Given the description of an element on the screen output the (x, y) to click on. 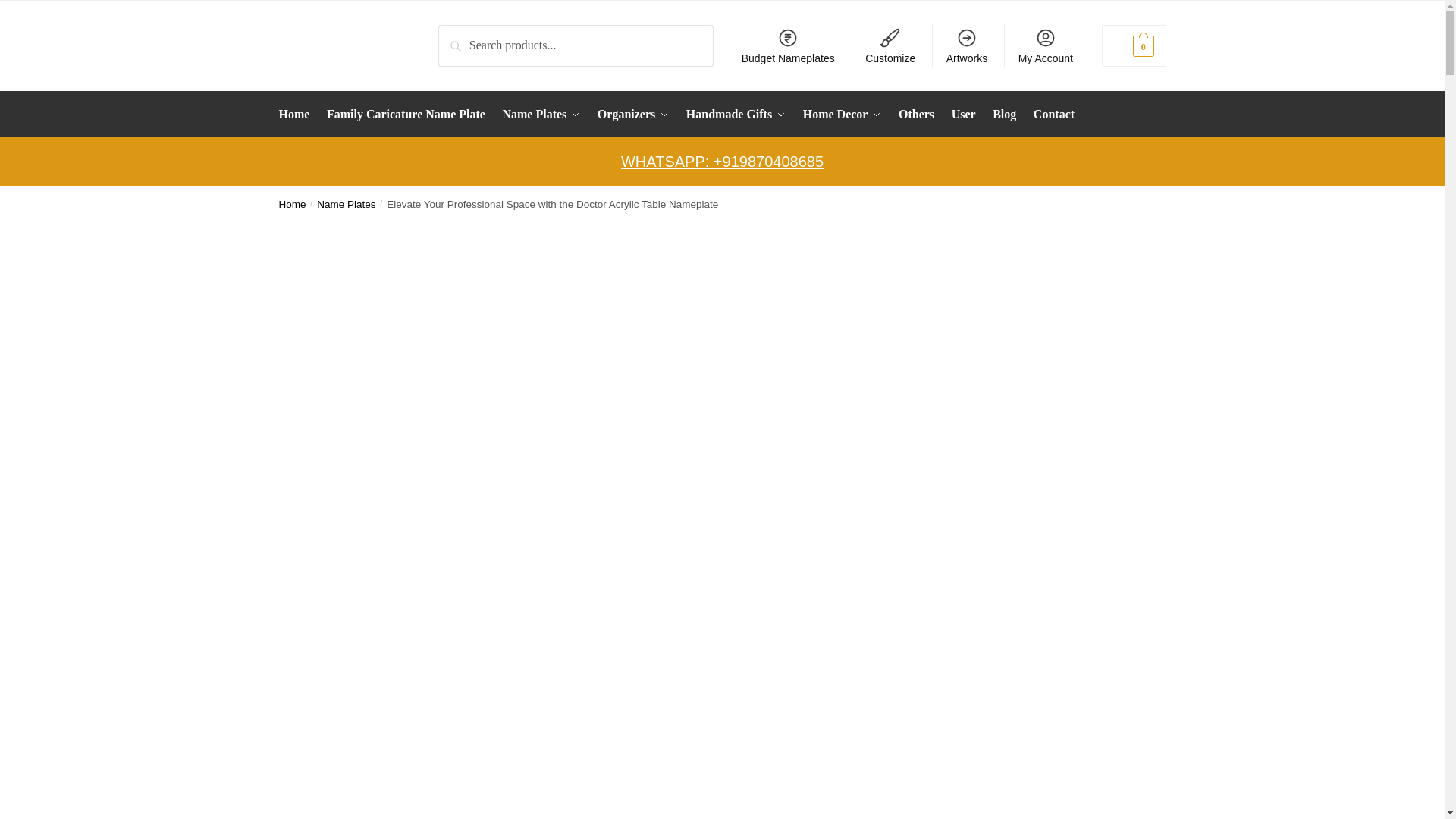
Handmade Gifts (735, 114)
Name Plates (541, 114)
Organizers (633, 114)
My Account (1045, 45)
Budget Nameplates (787, 45)
Artworks (965, 45)
Search (459, 35)
View your shopping cart (1134, 45)
Customize (890, 45)
Family Caricature Name Plate (406, 114)
